Given the description of an element on the screen output the (x, y) to click on. 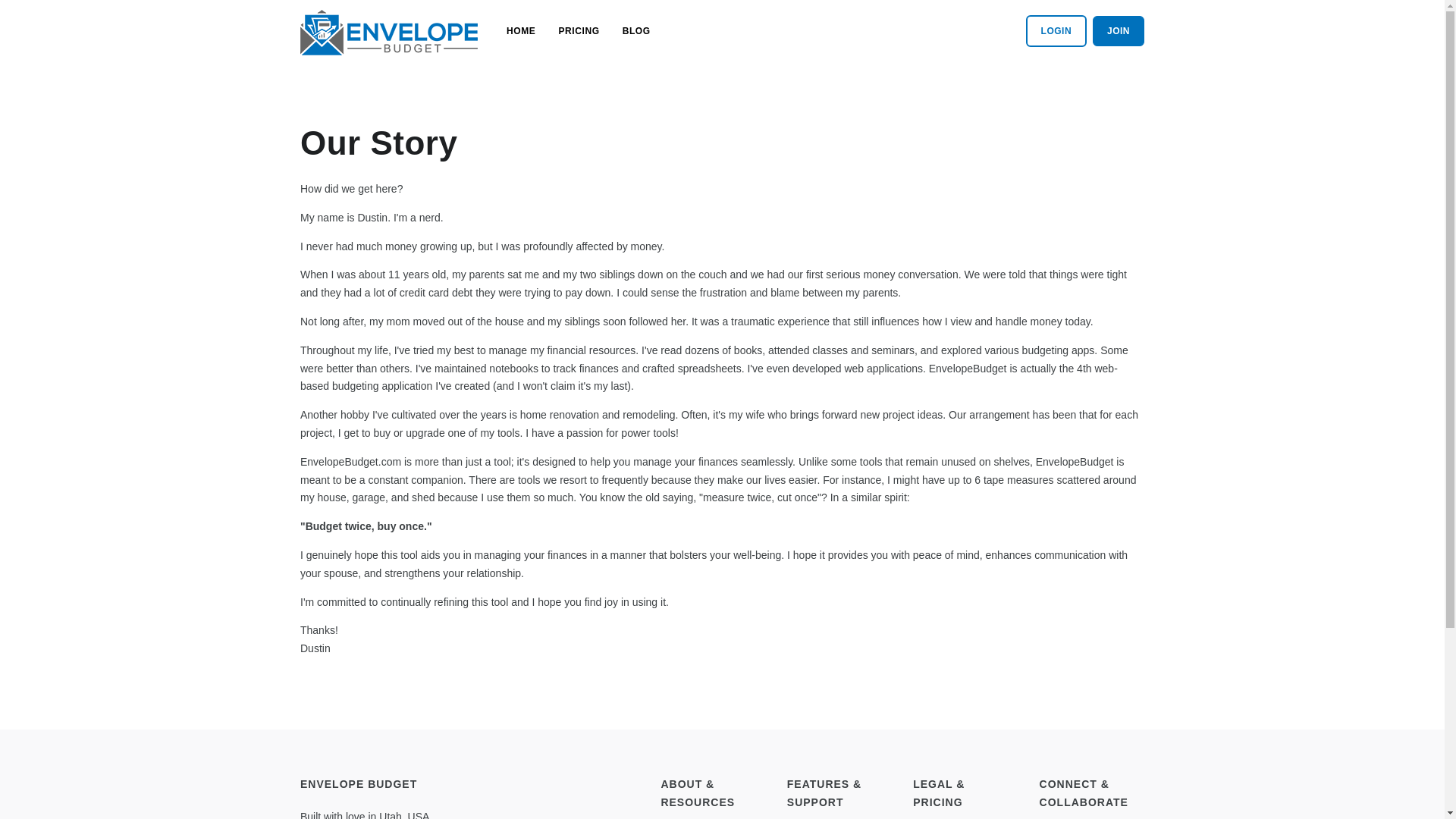
JOIN (1118, 30)
HOME (520, 31)
LOGIN (1056, 30)
BLOG (635, 31)
PRICING (578, 31)
